Given the description of an element on the screen output the (x, y) to click on. 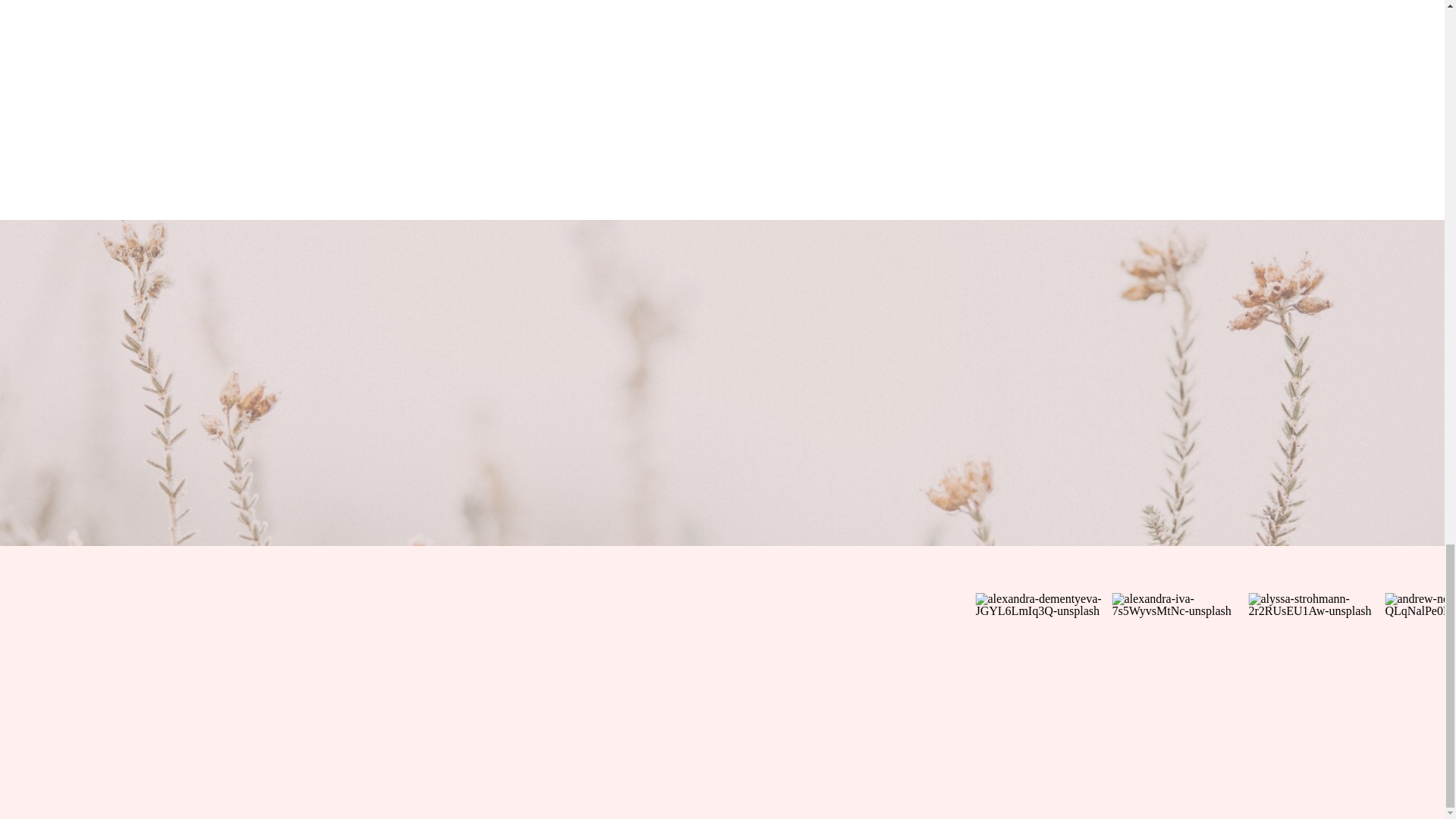
alyssa-strohmann-2r2RUsEU1Aw-unsplash (1315, 660)
alexandra-dementyeva-JGYL6LmIq3Q-unsplash (1043, 660)
alexandra-iva-7s5WyvsMtNc-unsplash (1179, 660)
